Given the description of an element on the screen output the (x, y) to click on. 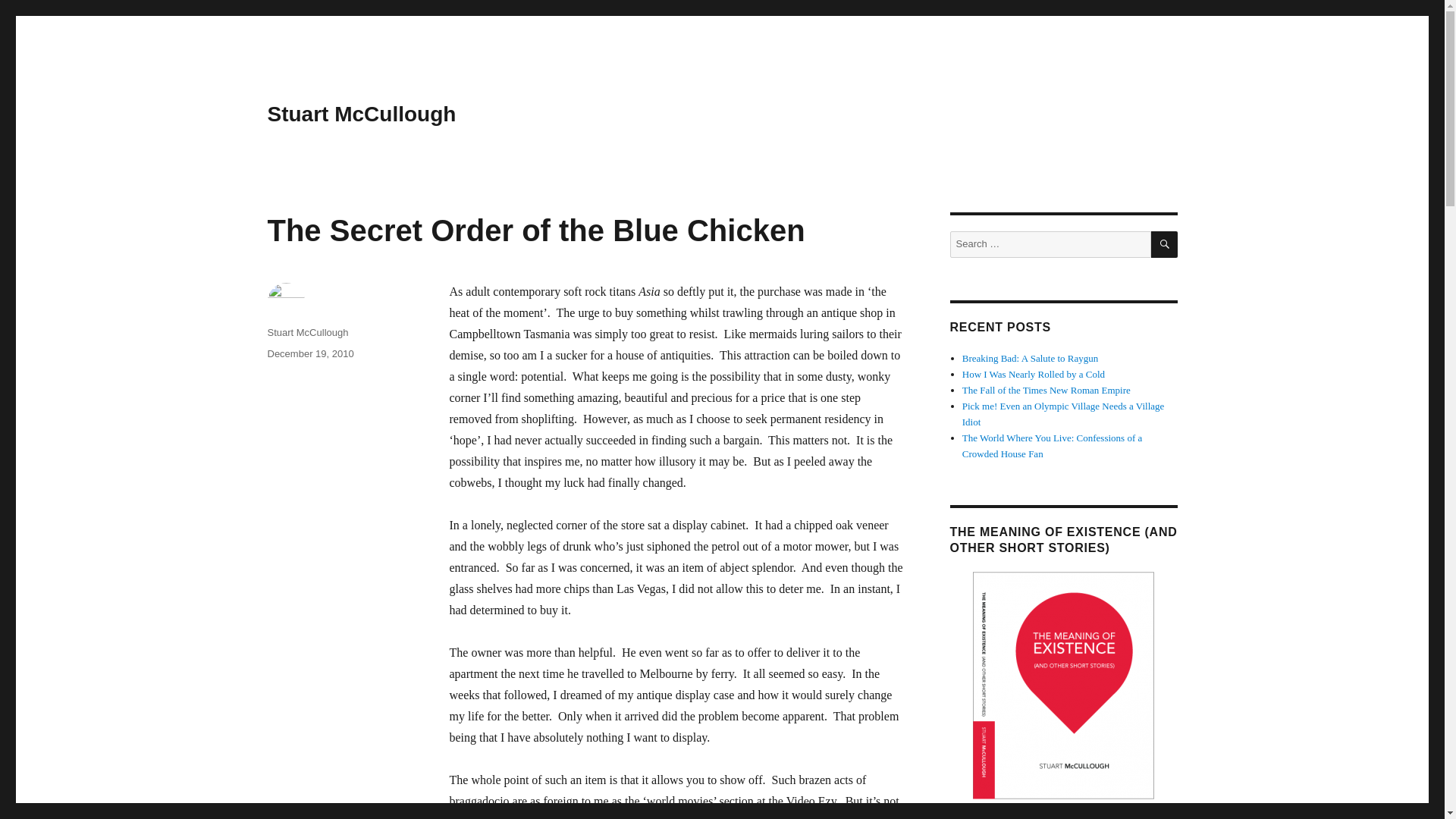
The World Where You Live: Confessions of a Crowded House Fan (1052, 445)
How I Was Nearly Rolled by a Cold (1033, 374)
Breaking Bad: A Salute to Raygun (1029, 357)
The Fall of the Times New Roman Empire (1046, 389)
Stuart McCullough (306, 332)
December 19, 2010 (309, 353)
SEARCH (1164, 243)
Pick me! Even an Olympic Village Needs a Village Idiot (1063, 413)
Stuart McCullough (360, 114)
